Given the description of an element on the screen output the (x, y) to click on. 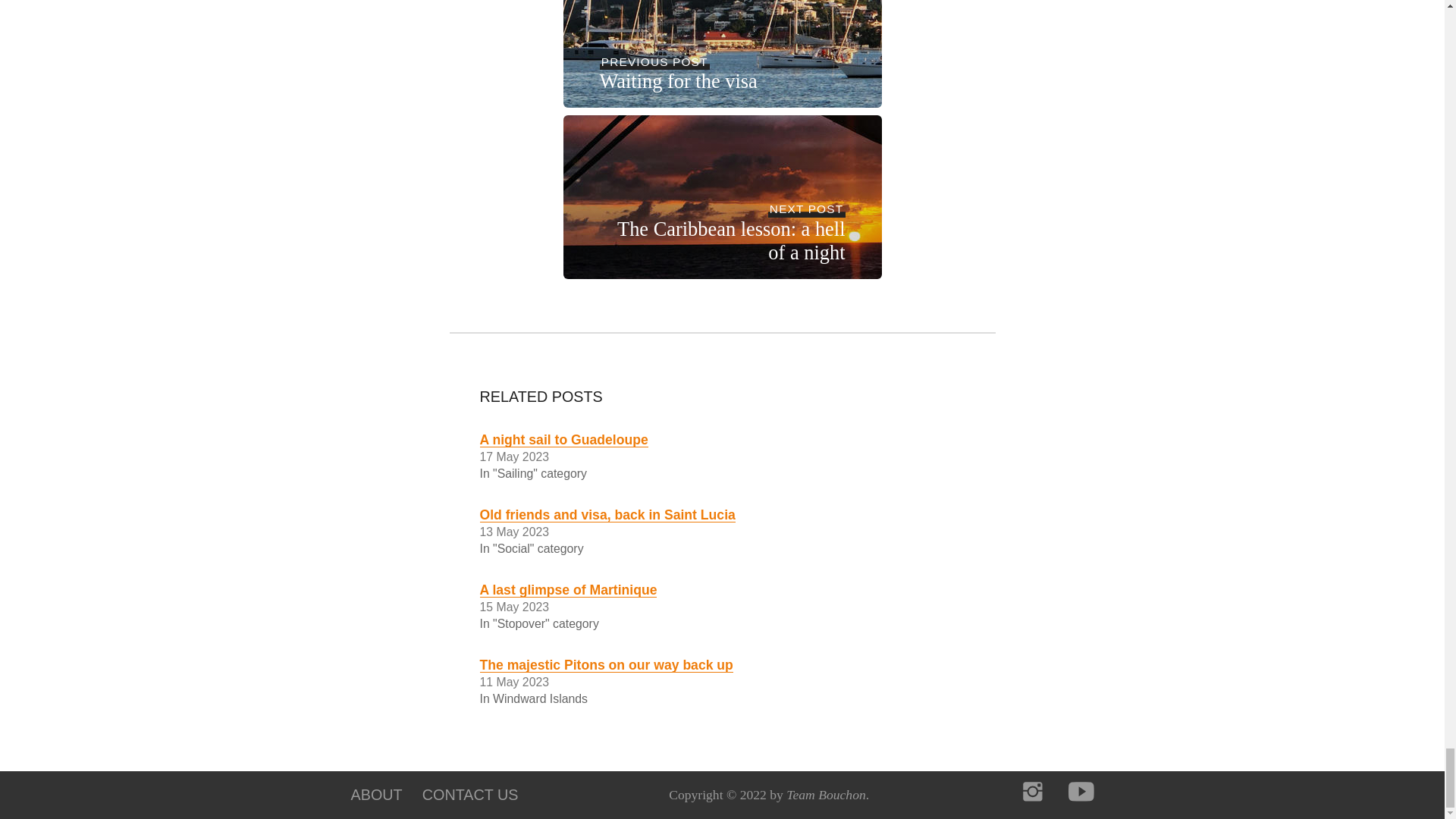
LOGO YOUTUBE (1080, 791)
LOGO INSTAGRAM (1032, 791)
